Given the description of an element on the screen output the (x, y) to click on. 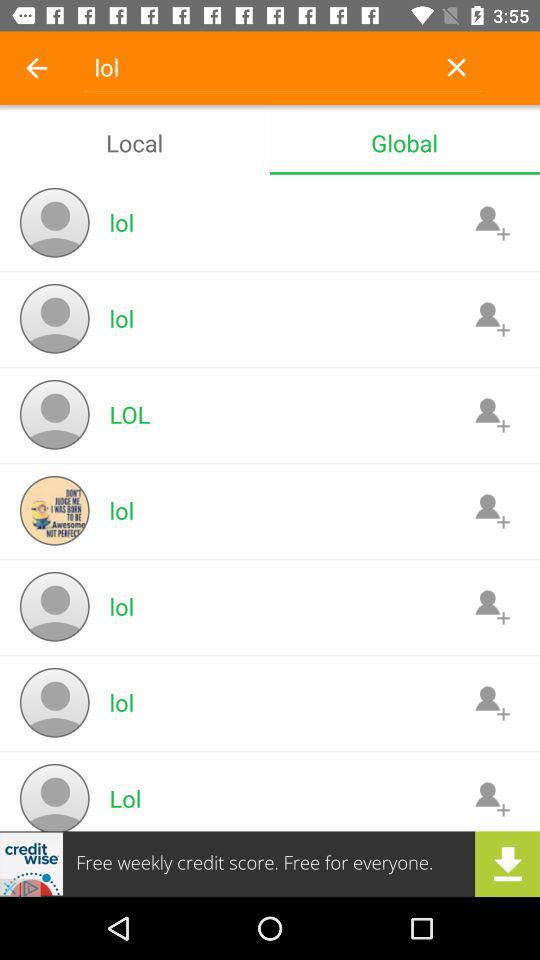
add friend (492, 414)
